Given the description of an element on the screen output the (x, y) to click on. 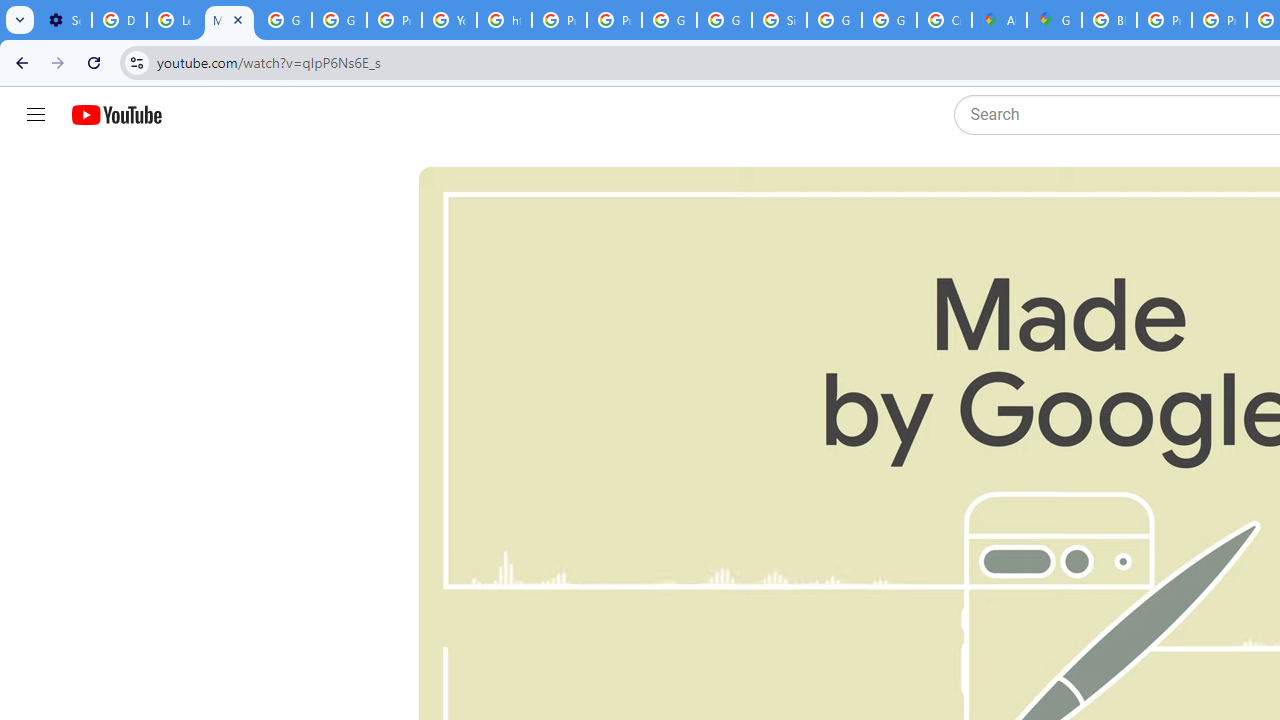
Create your Google Account (943, 20)
